Given the description of an element on the screen output the (x, y) to click on. 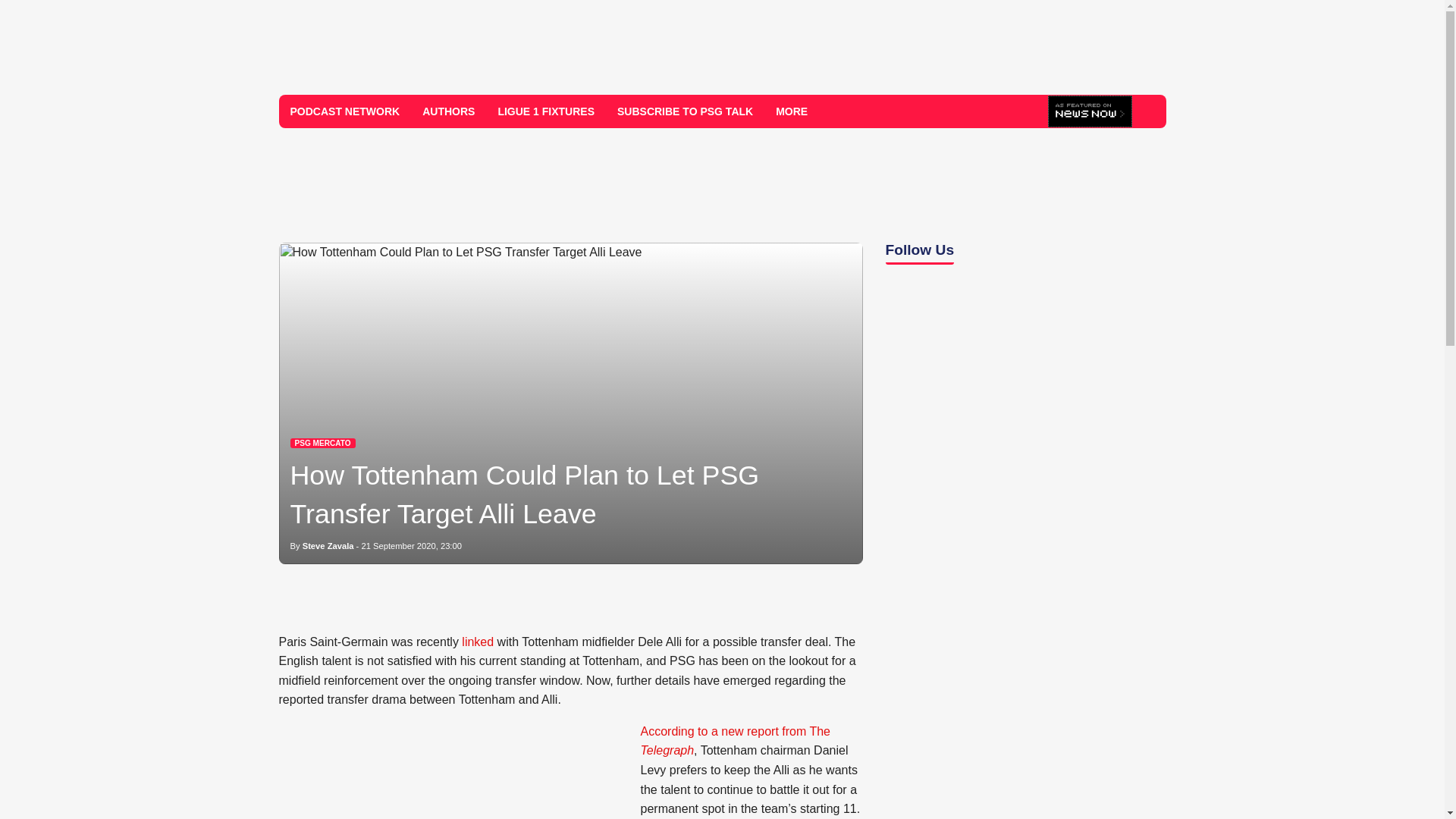
PSG MERCATO (322, 442)
PODCAST NETWORK (345, 111)
21 September 2020, 23:00 (411, 545)
linked (477, 641)
SUBSCRIBE TO PSG TALK (684, 111)
MORE (796, 111)
AUTHORS (448, 111)
According to a new report from The Telegraph (734, 740)
LIGUE 1 FIXTURES (545, 111)
Latest PSG Mercato News (322, 442)
Steve Zavala (327, 545)
Search (1147, 111)
Click here for more PSG news from NewsNow (1090, 111)
